Given the description of an element on the screen output the (x, y) to click on. 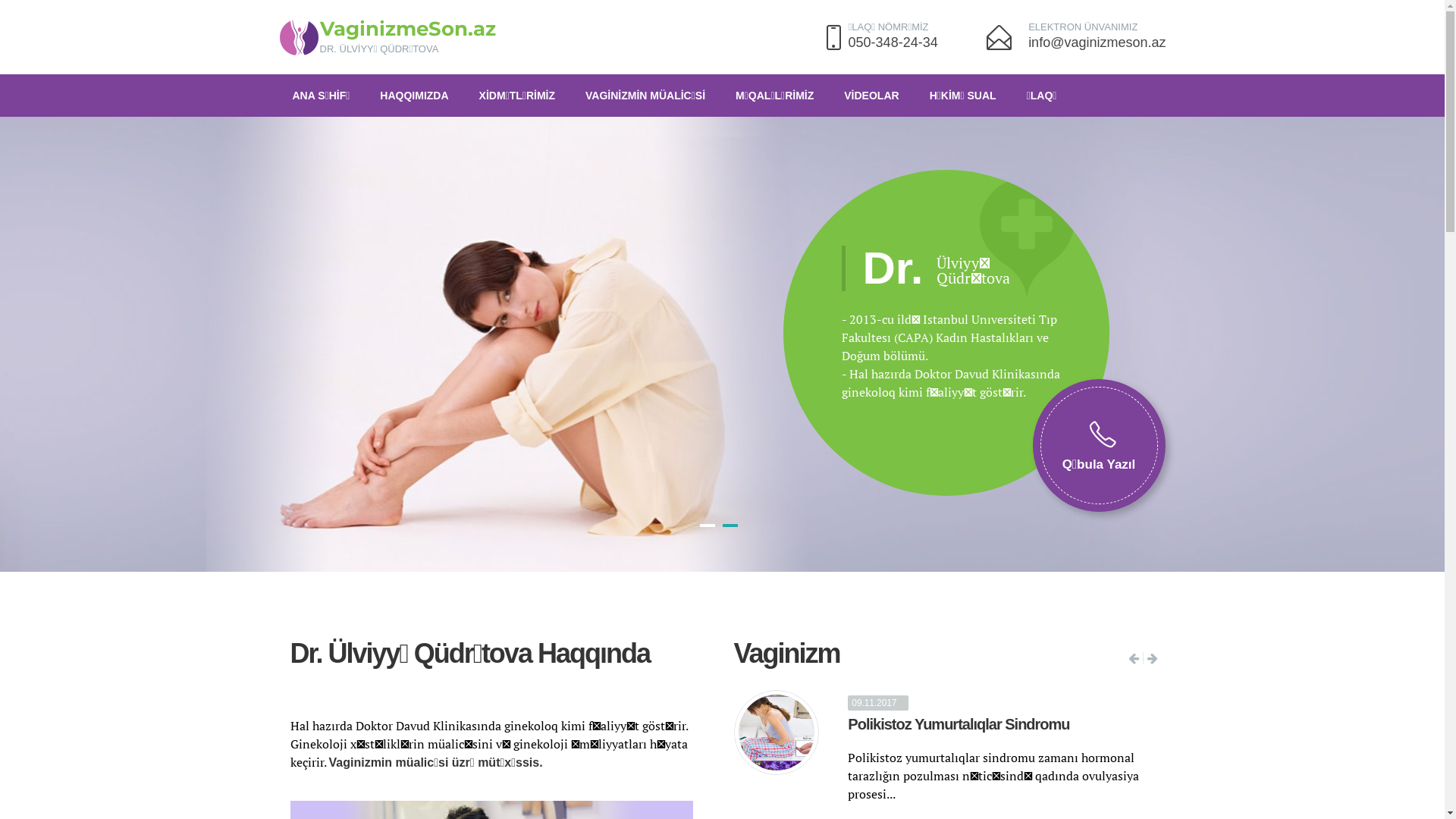
info@vaginizmeson.az Element type: text (1096, 42)
VIDEOLAR Element type: text (872, 95)
HAQQIMIZDA Element type: text (415, 95)
050-348-24-34 Element type: text (893, 42)
